Given the description of an element on the screen output the (x, y) to click on. 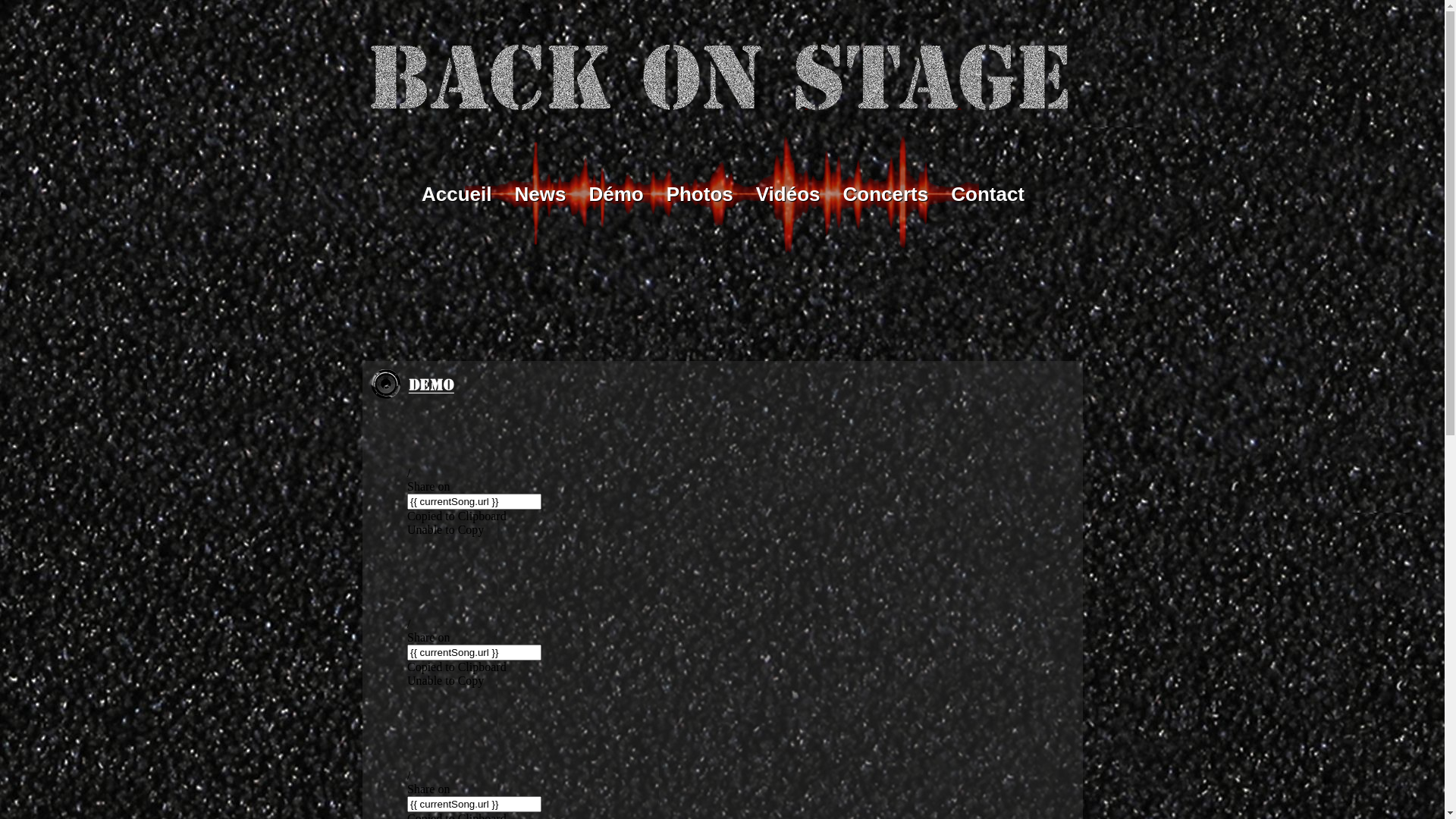
Concerts Element type: text (885, 195)
Photos Element type: text (699, 195)
Contact Element type: text (987, 195)
News Element type: text (539, 195)
Accueil Element type: text (456, 195)
